Given the description of an element on the screen output the (x, y) to click on. 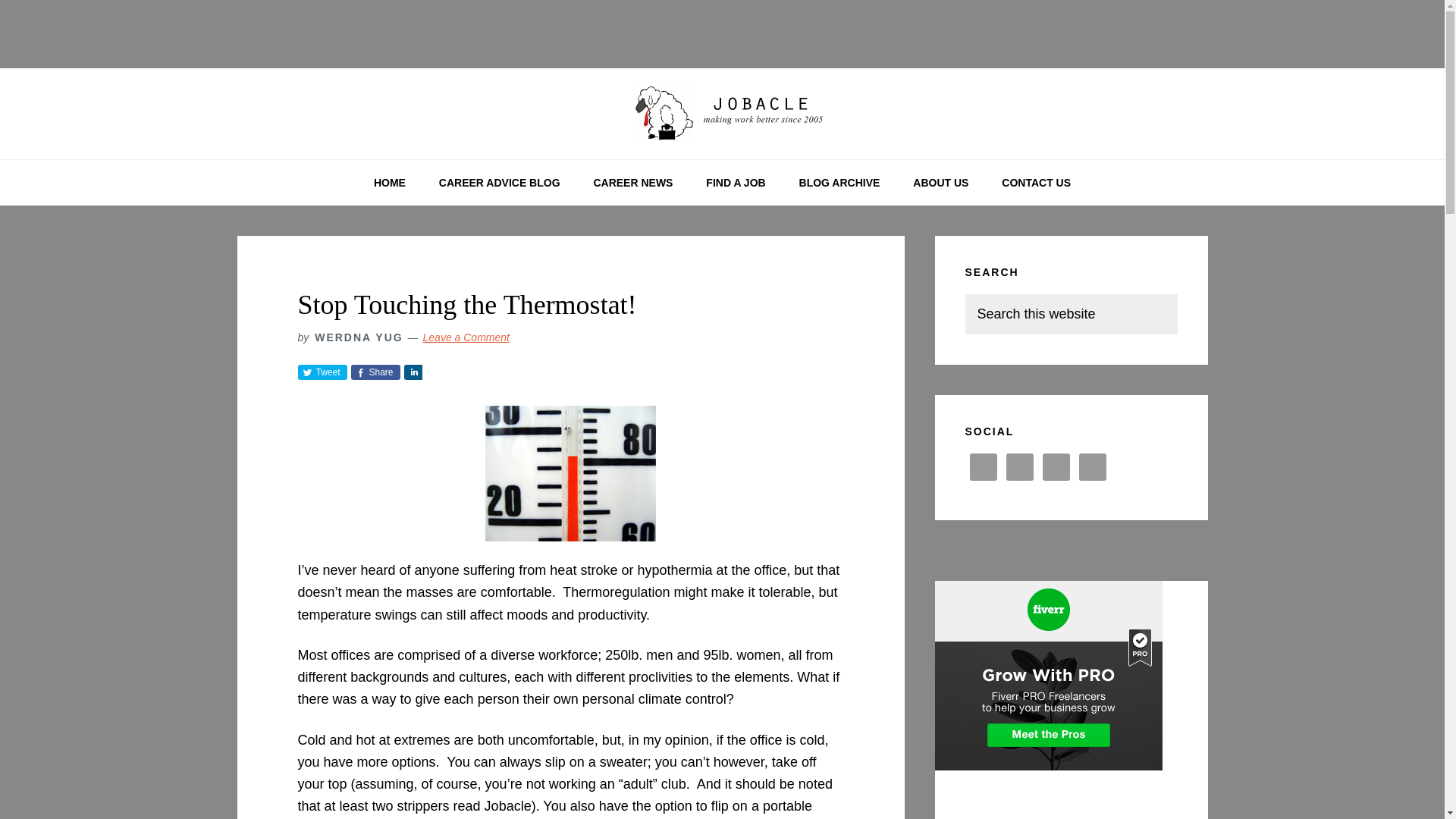
FIND A JOB (735, 182)
Tweet (321, 372)
Share (412, 372)
HOME (389, 182)
BLOG ARCHIVE (839, 182)
Share (374, 372)
ABOUT US (941, 182)
Jobacle.com (721, 113)
Leave a Comment (466, 337)
CAREER NEWS (632, 182)
CONTACT US (1036, 182)
